Given the description of an element on the screen output the (x, y) to click on. 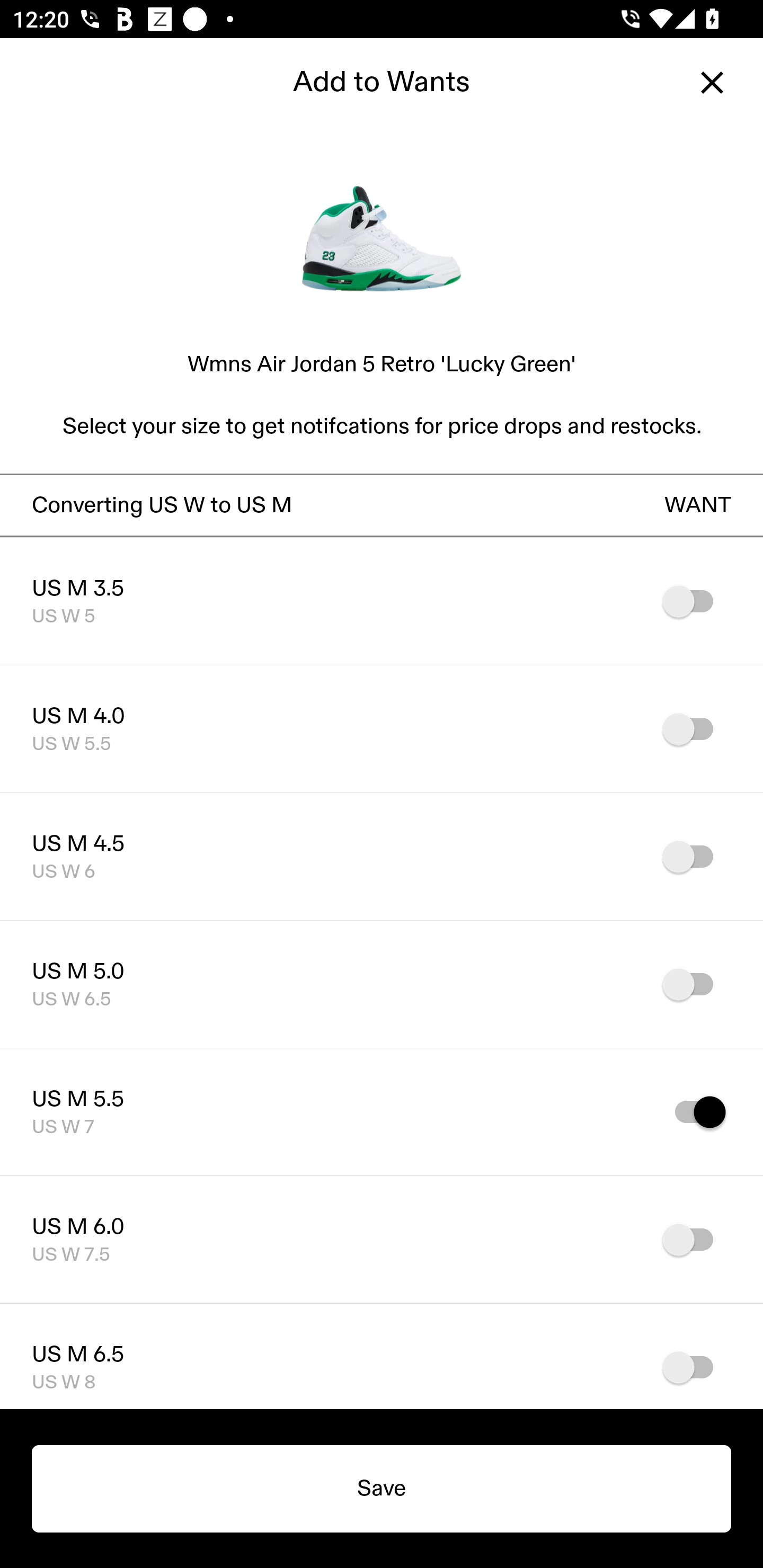
Save (381, 1488)
